Given the description of an element on the screen output the (x, y) to click on. 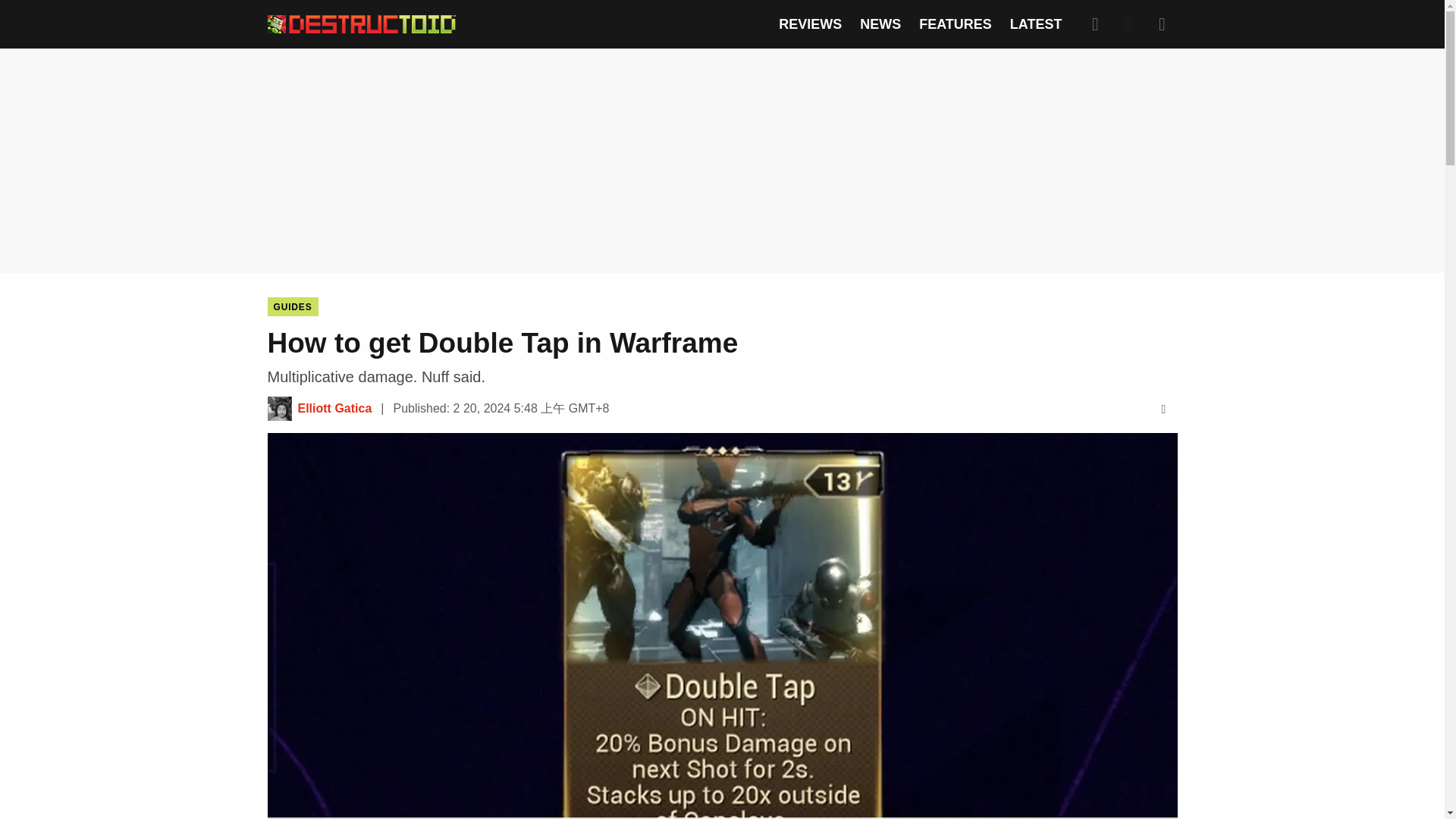
LATEST (1036, 23)
Search (1094, 24)
Expand Menu (1161, 24)
NEWS (880, 23)
Dark Mode (1127, 24)
GUIDES (291, 306)
REVIEWS (809, 23)
FEATURES (954, 23)
